Given the description of an element on the screen output the (x, y) to click on. 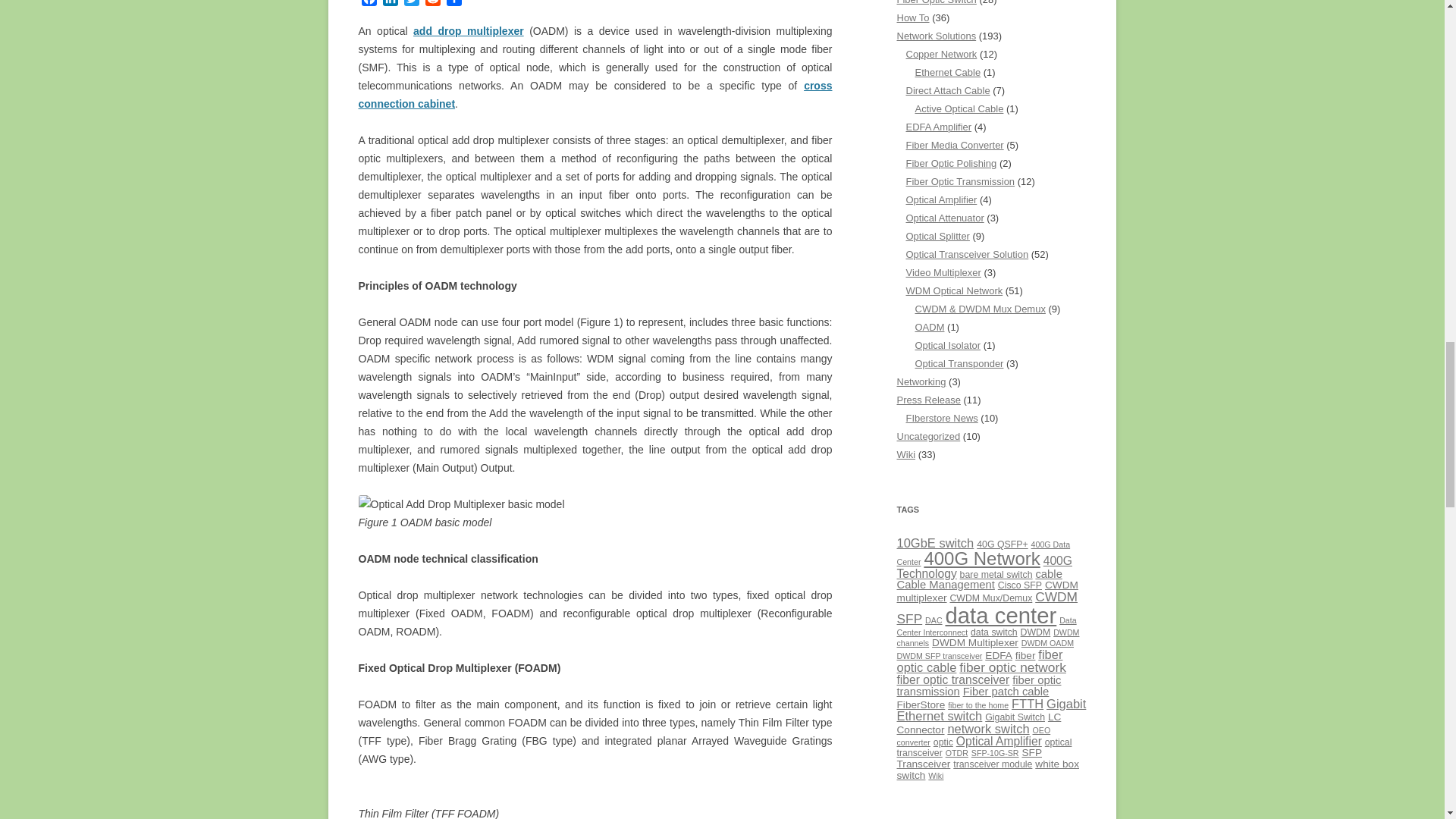
Facebook (368, 4)
Reddit (432, 4)
Reddit (432, 4)
LinkedIn (389, 4)
cross connection cabinet (594, 94)
Facebook (368, 4)
Twitter (411, 4)
Twitter (411, 4)
add drop multiplexer (468, 30)
LinkedIn (389, 4)
